Given the description of an element on the screen output the (x, y) to click on. 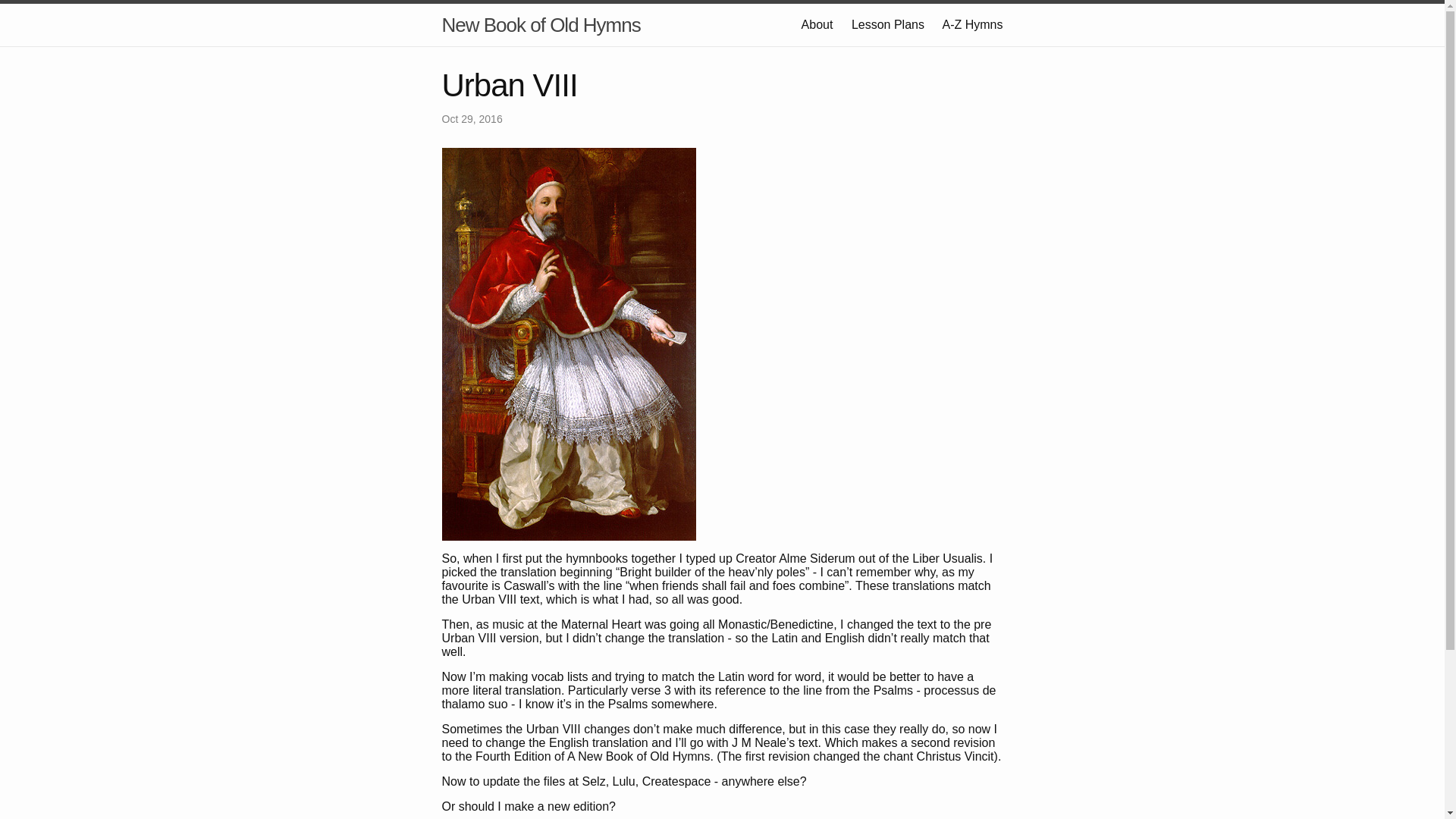
About Element type: text (817, 24)
New Book of Old Hymns Element type: text (540, 24)
A-Z Hymns Element type: text (971, 24)
Lesson Plans Element type: text (887, 24)
